Given the description of an element on the screen output the (x, y) to click on. 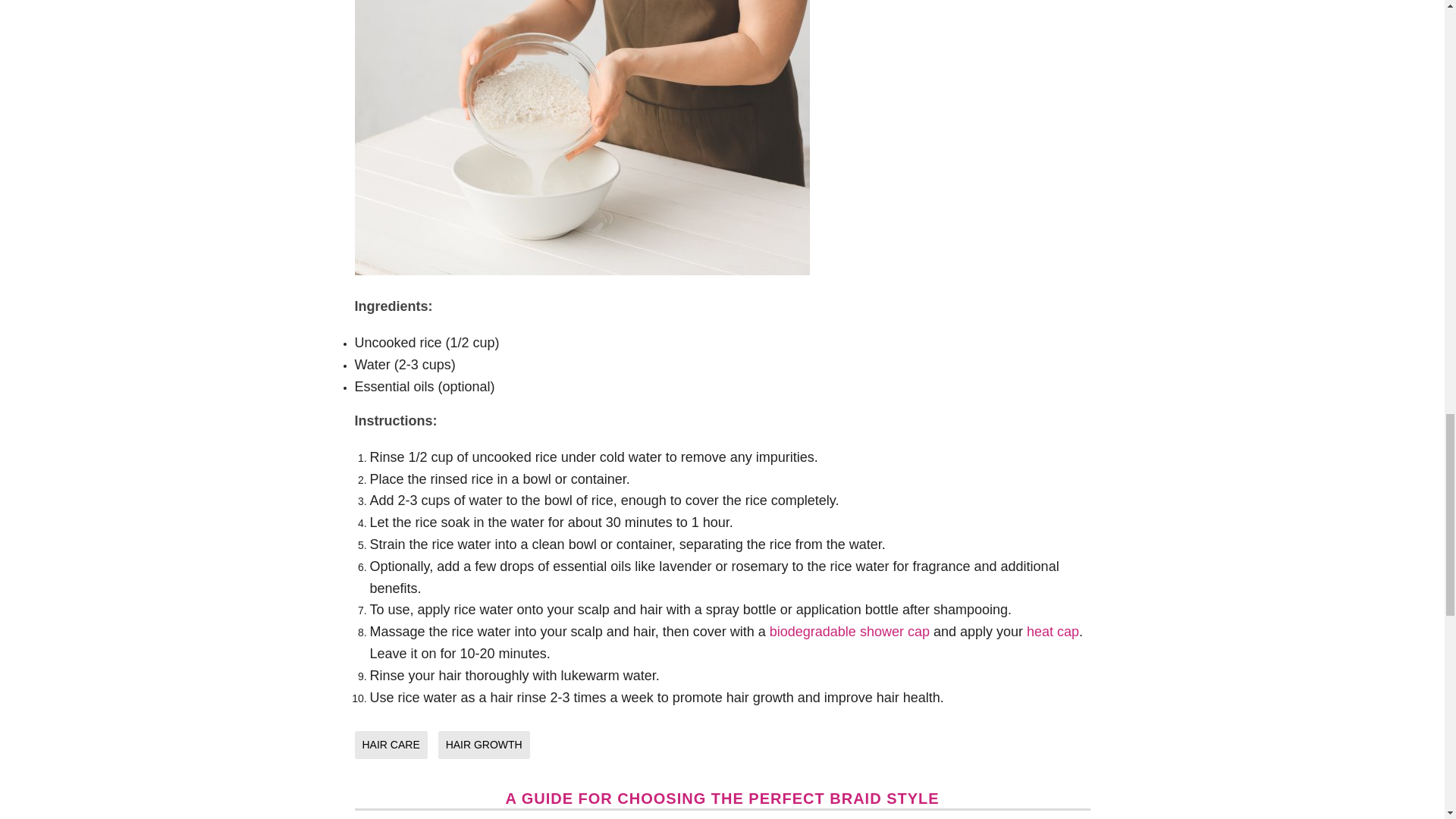
HAIR GROWTH (487, 744)
heat cap (1052, 631)
HAIR CARE (395, 744)
Rice water (582, 137)
A GUIDE FOR CHOOSING THE PERFECT BRAID STYLE (722, 798)
biodegradable shower cap (850, 631)
